Given the description of an element on the screen output the (x, y) to click on. 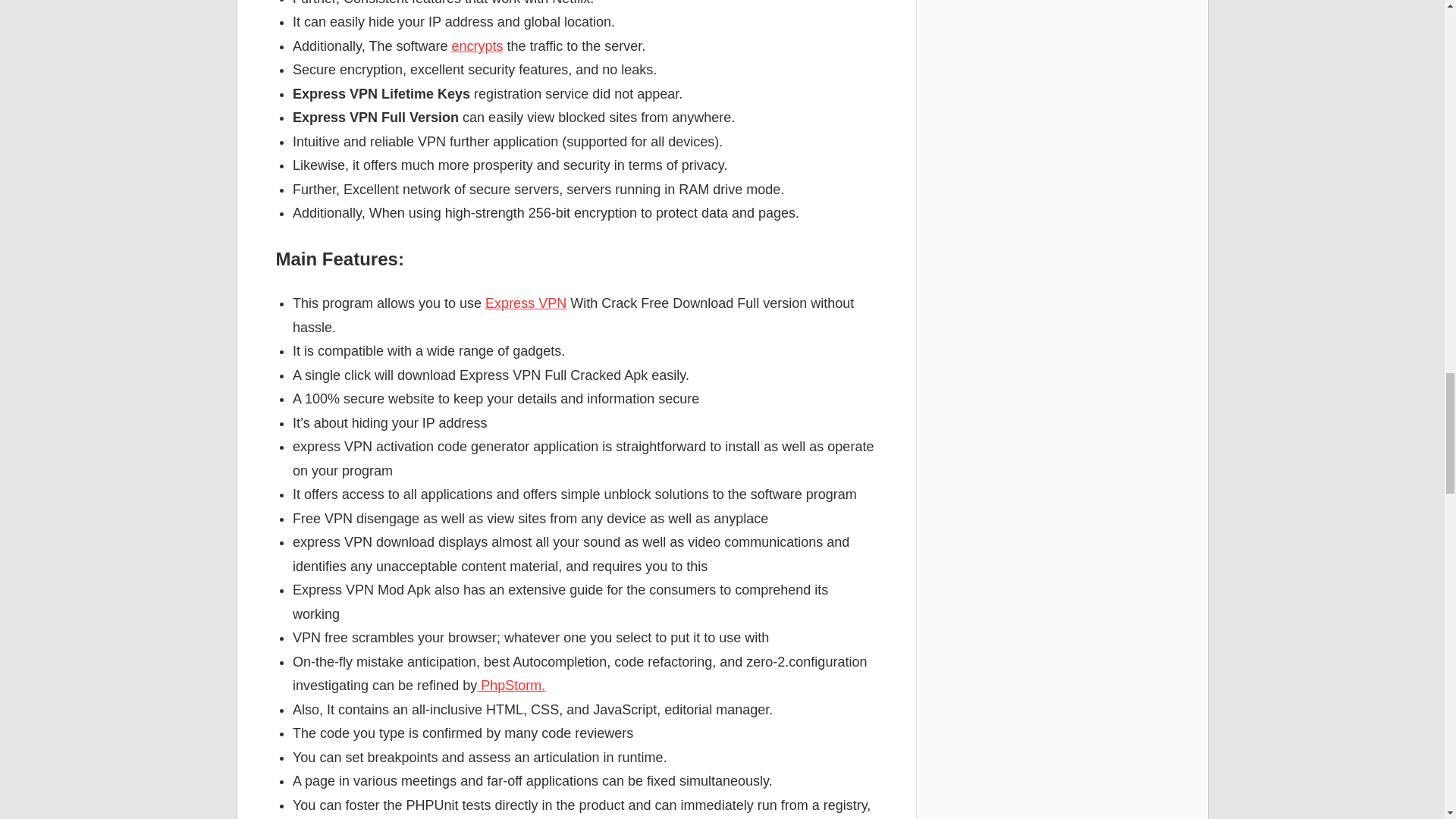
encrypts (476, 46)
Express VPN (525, 303)
PhpStorm. (510, 685)
